Given the description of an element on the screen output the (x, y) to click on. 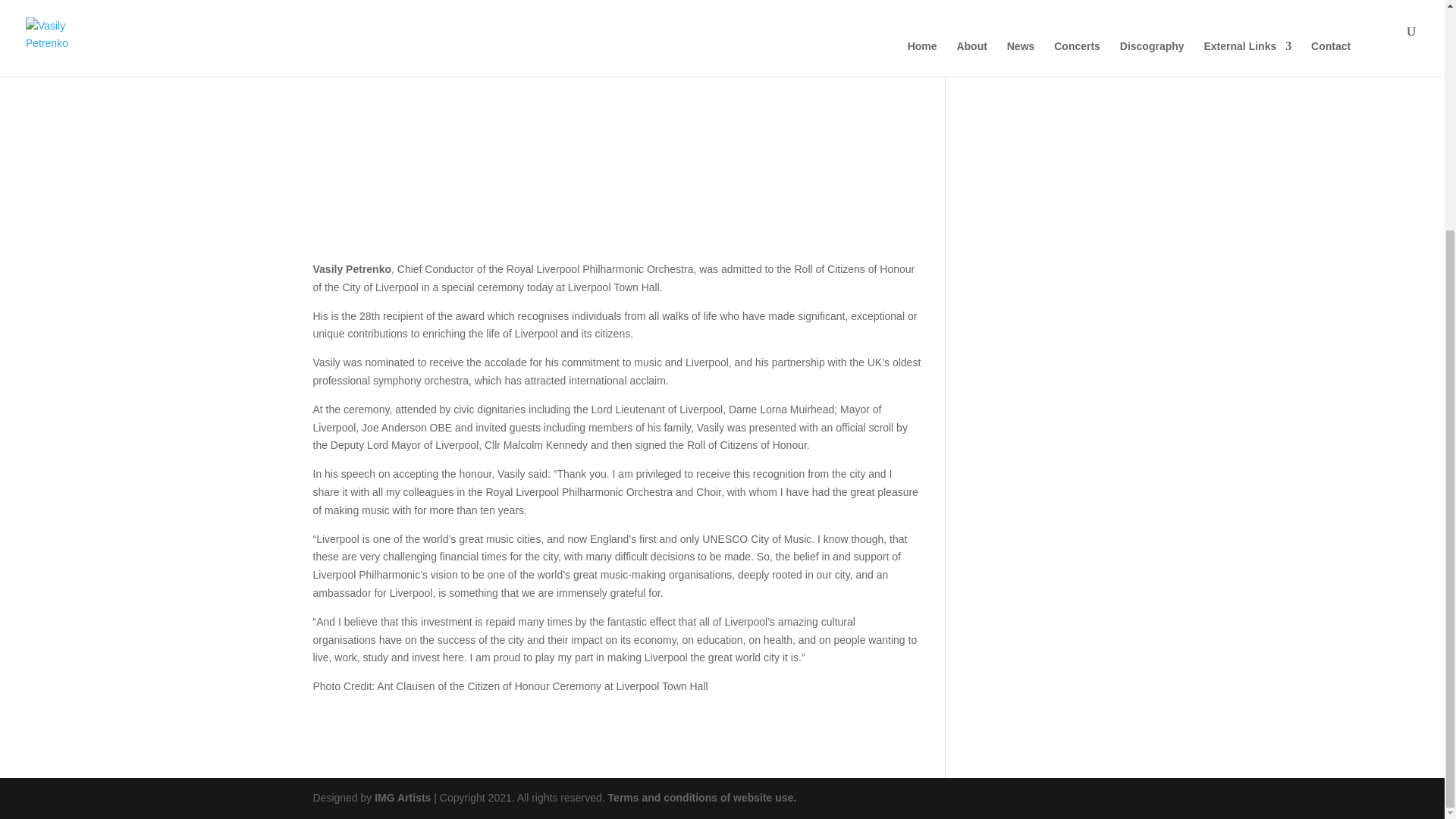
IMG Artists (402, 797)
Terms and conditions of website use. (702, 797)
